Given the description of an element on the screen output the (x, y) to click on. 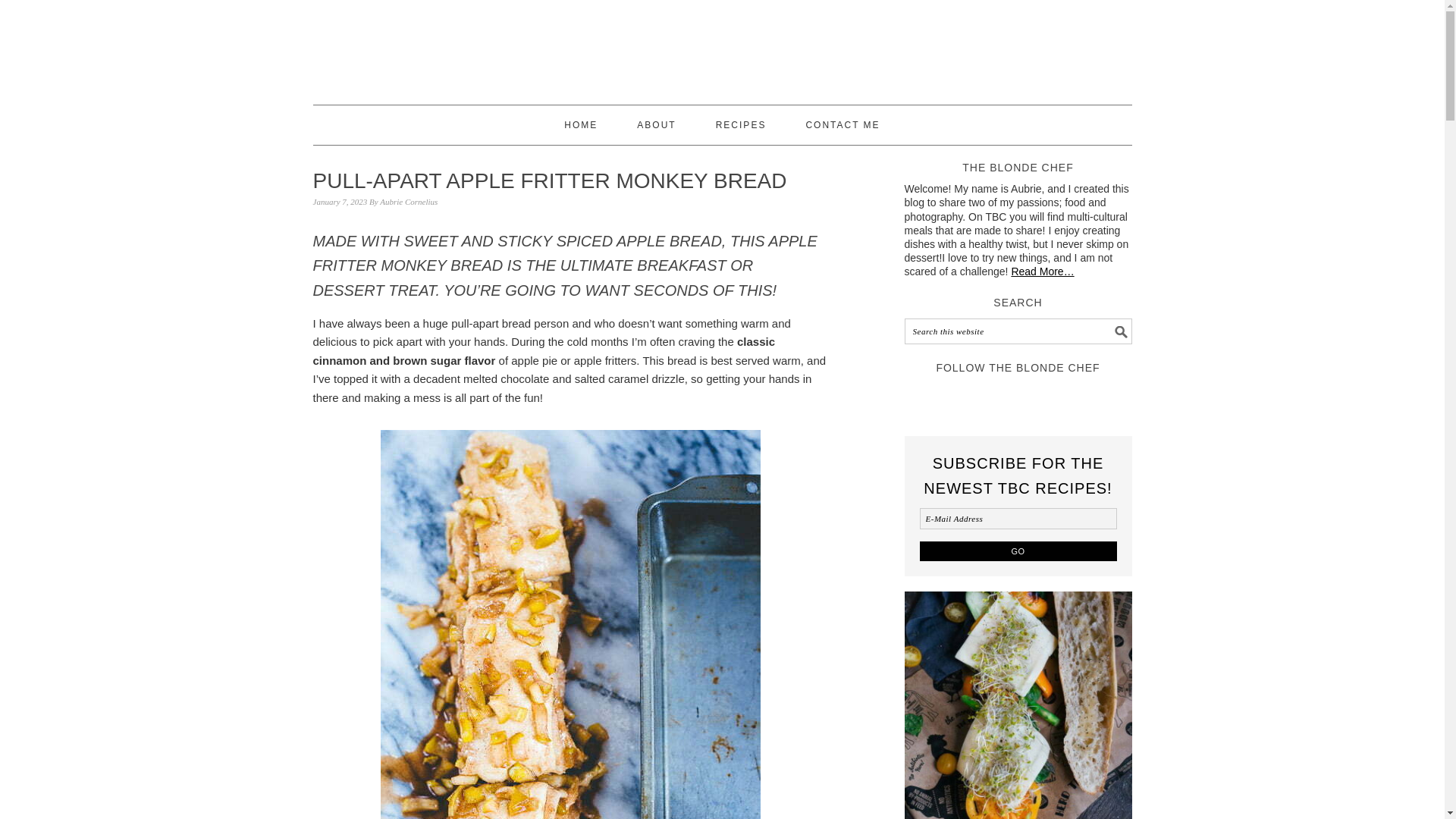
THE BLONDE CHEF (721, 56)
Aubrie Cornelius (409, 201)
HOME (579, 124)
CONTACT ME (842, 124)
ABOUT (655, 124)
Rainbow Veggie Sub With Lemon Aioli (1017, 705)
Go (1017, 551)
Go (1017, 551)
RECIPES (741, 124)
